Given the description of an element on the screen output the (x, y) to click on. 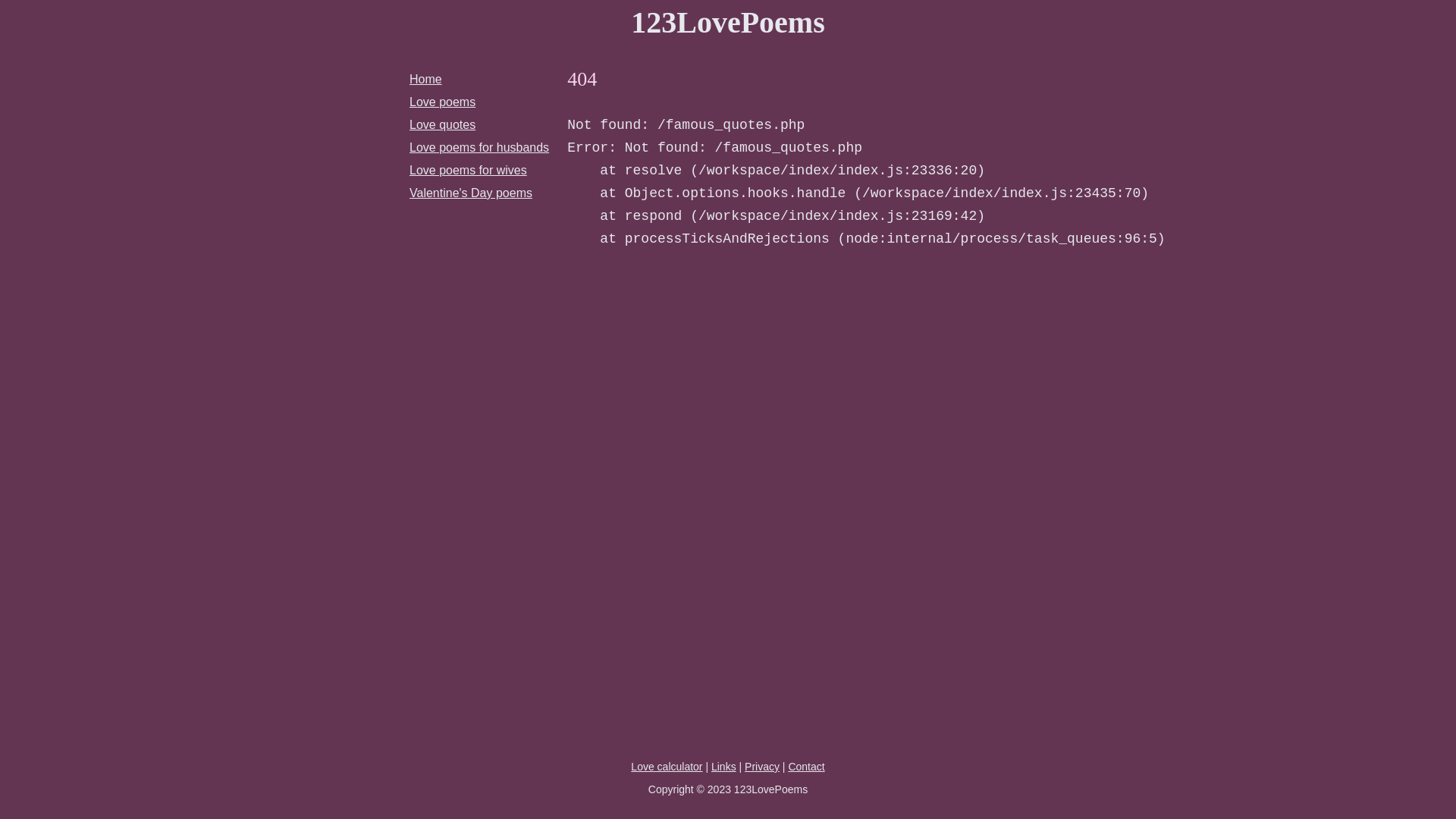
Love calculator Element type: text (666, 766)
Home Element type: text (425, 78)
Love poems for husbands Element type: text (479, 147)
Contact Element type: text (805, 766)
Love poems for wives Element type: text (468, 169)
Valentine's Day poems Element type: text (470, 192)
Love poems Element type: text (442, 101)
Love quotes Element type: text (442, 124)
Privacy Element type: text (761, 766)
Links Element type: text (723, 766)
123LovePoems Element type: text (727, 22)
